Given the description of an element on the screen output the (x, y) to click on. 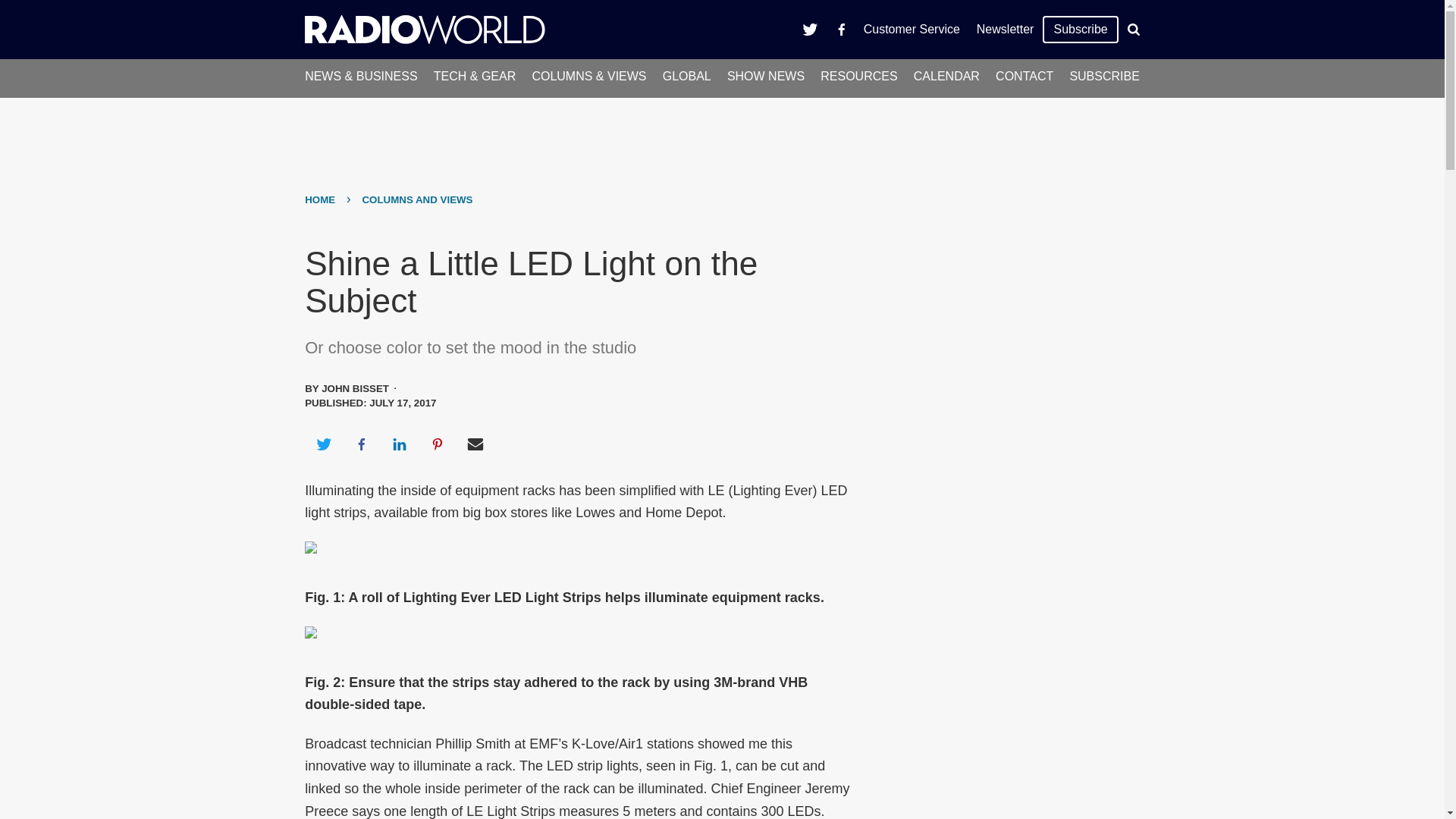
Share via Email (476, 444)
Share on Twitter (323, 444)
Share on Facebook (361, 444)
Share on LinkedIn (399, 444)
Share on Pinterest (438, 444)
Customer Service (912, 29)
